Given the description of an element on the screen output the (x, y) to click on. 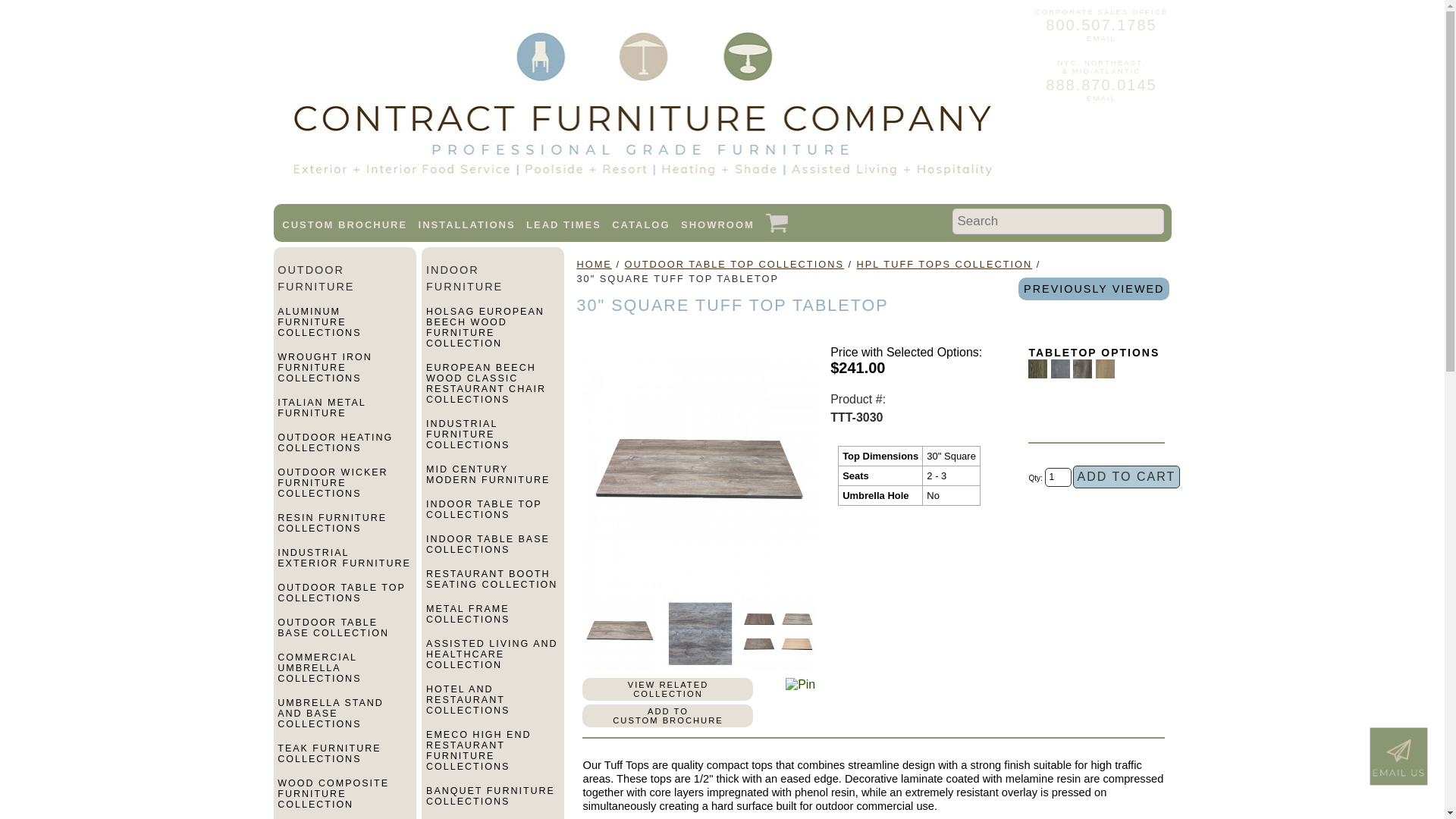
Browse Aluminum Furniture Collections (345, 328)
Custom brochure (344, 224)
HOTEL AND RESTAURANT COLLECTIONS (493, 705)
SHOWROOM (717, 224)
1 (1058, 476)
Find a showroom (717, 224)
WOOD COMPOSITE FURNITURE COLLECTION (345, 798)
ASSISTED LIVING AND HEALTHCARE COLLECTION (493, 660)
ITALIAN METAL FURNITURE (345, 414)
Browse Umbrella Stand and Base Collections (345, 719)
INDUSTRIAL FURNITURE COLLECTIONS (493, 440)
Browse Outdoor Table Base Collection (345, 634)
HOLSAG EUROPEAN BEECH WOOD FURNITURE COLLECTION (493, 333)
Browse Outdoor Heating Collections (345, 449)
Request a catalog (640, 224)
